Given the description of an element on the screen output the (x, y) to click on. 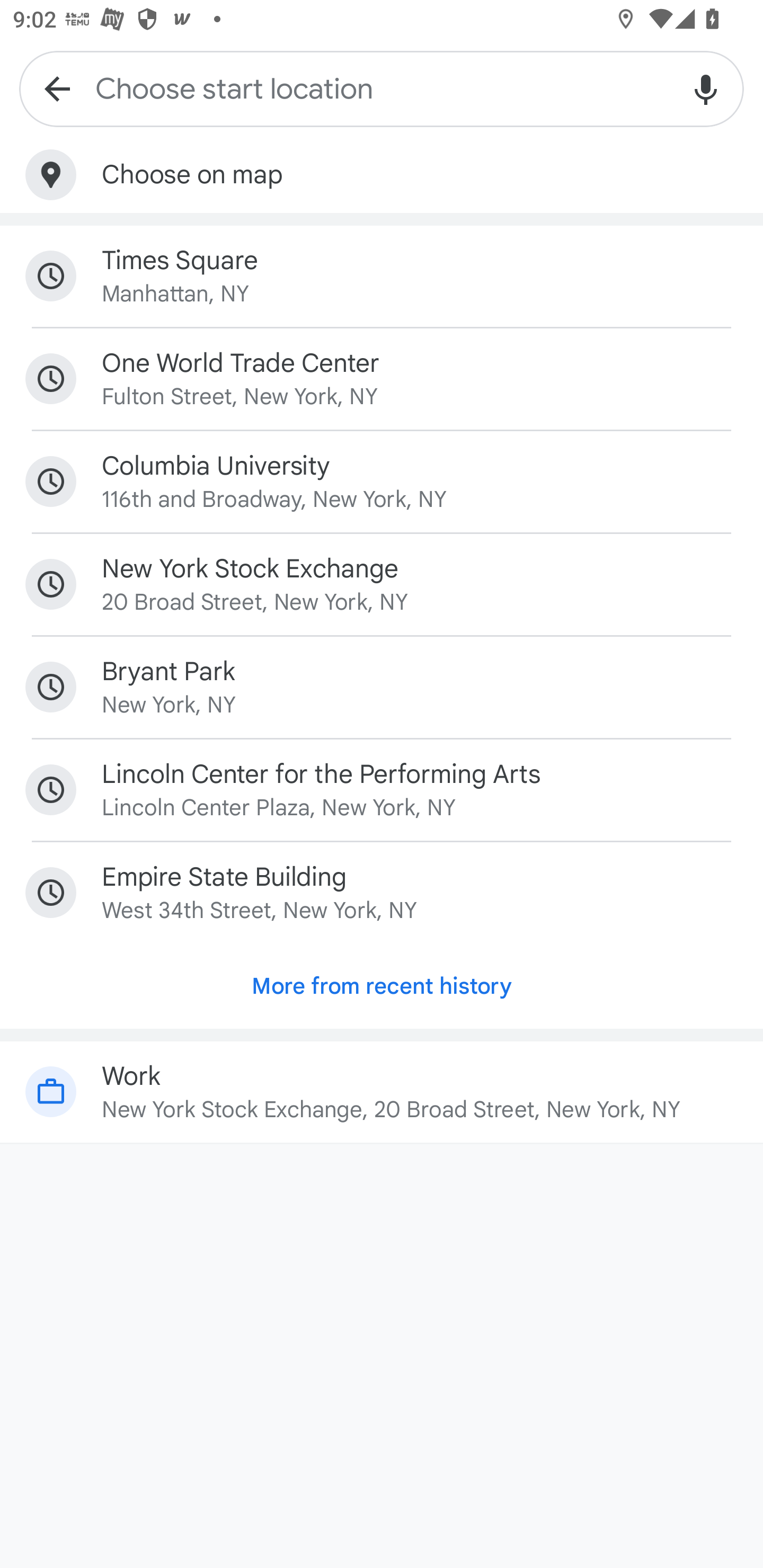
Navigate up (57, 88)
Choose start location (381, 88)
Voice search (705, 88)
Choose on map (381, 174)
Times Square Manhattan, NY (381, 275)
One World Trade Center Fulton Street, New York, NY (381, 378)
Bryant Park New York, NY (381, 687)
More from recent history (381, 985)
